Given the description of an element on the screen output the (x, y) to click on. 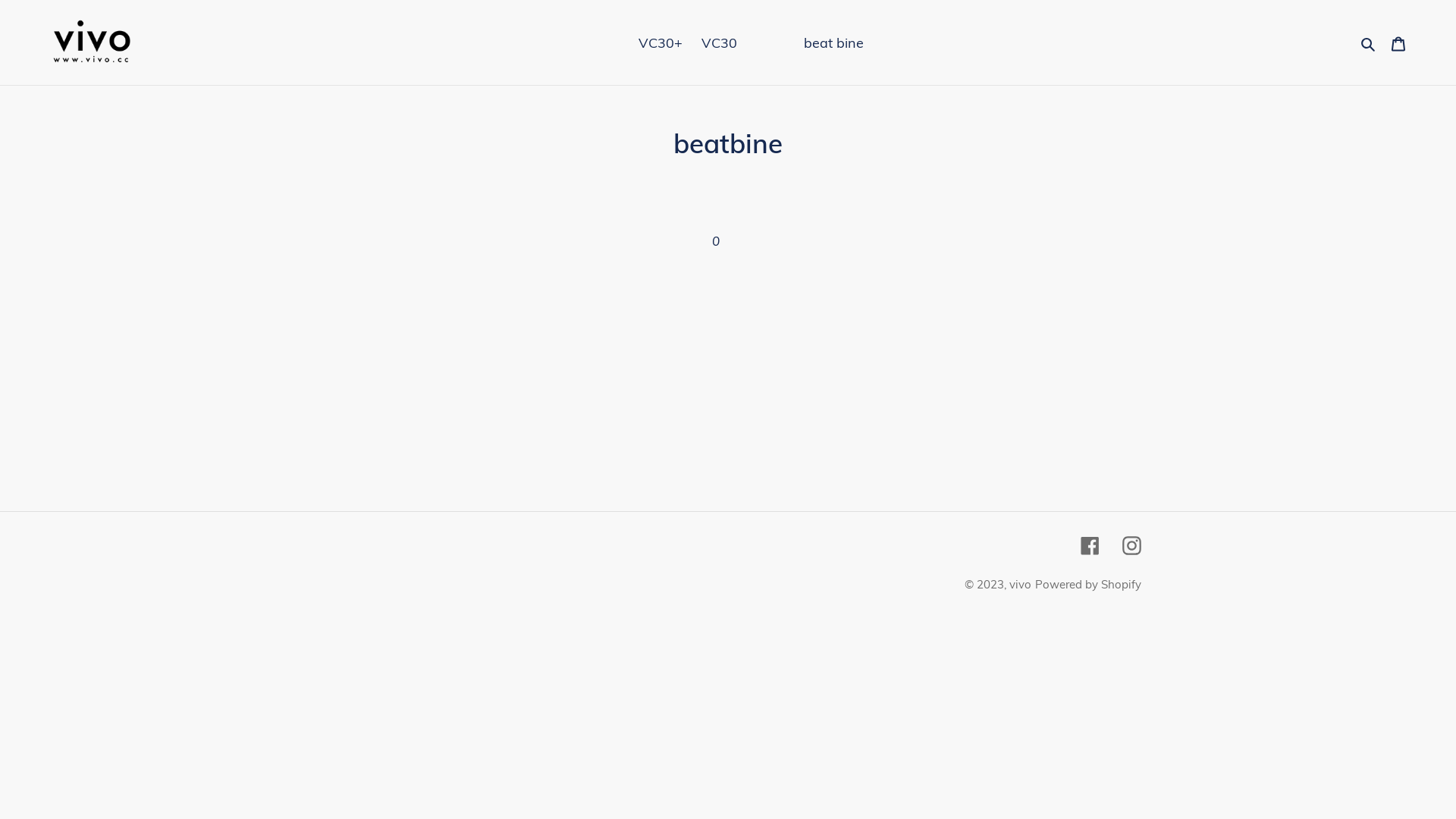
Instagram Element type: text (1131, 544)
Facebook Element type: text (1089, 544)
VC30+ Element type: text (660, 42)
beat bine Element type: text (833, 42)
vivo Element type: text (1020, 584)
